Given the description of an element on the screen output the (x, y) to click on. 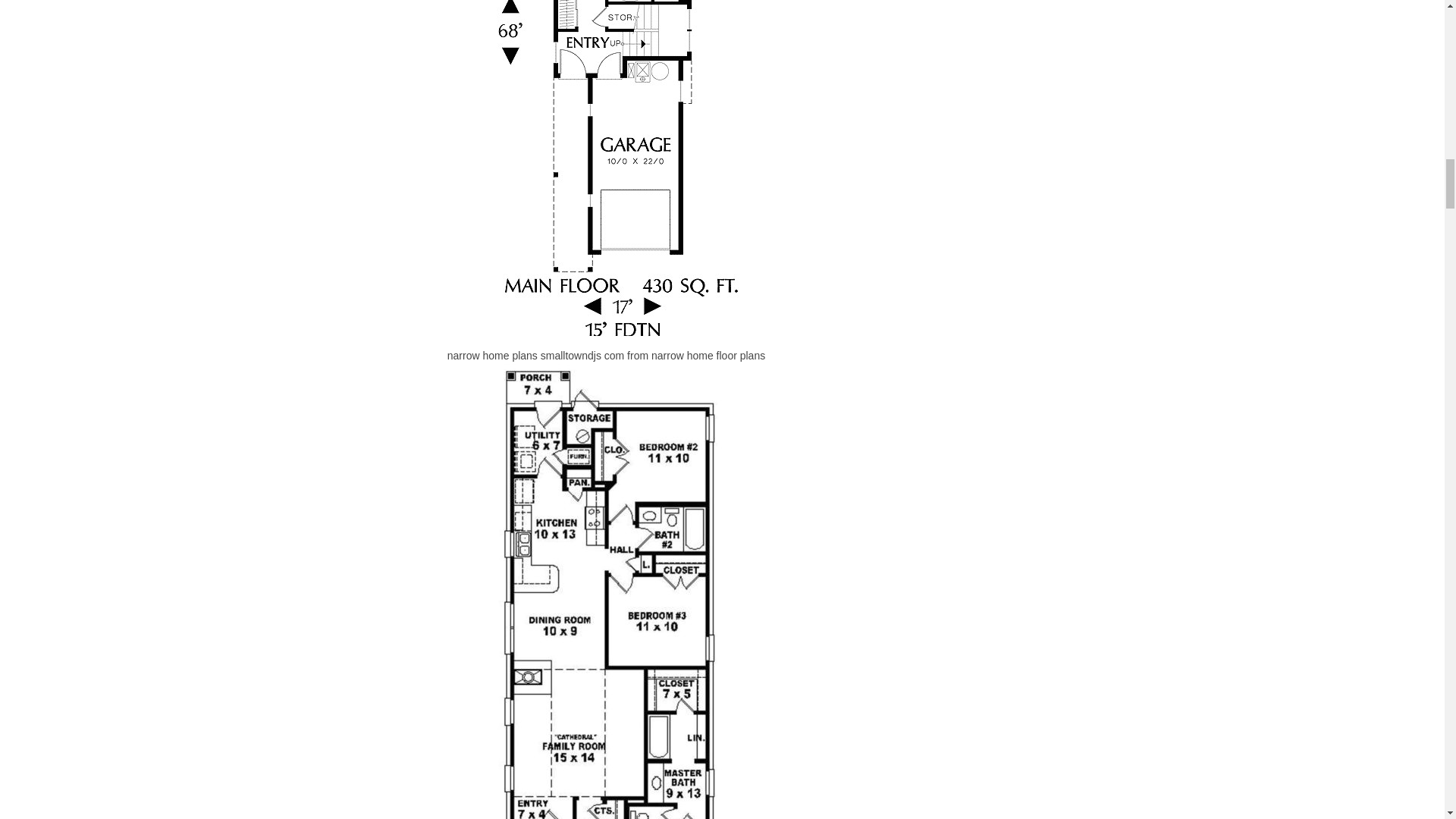
narrow home plans smalltowndjs com (605, 168)
